Given the description of an element on the screen output the (x, y) to click on. 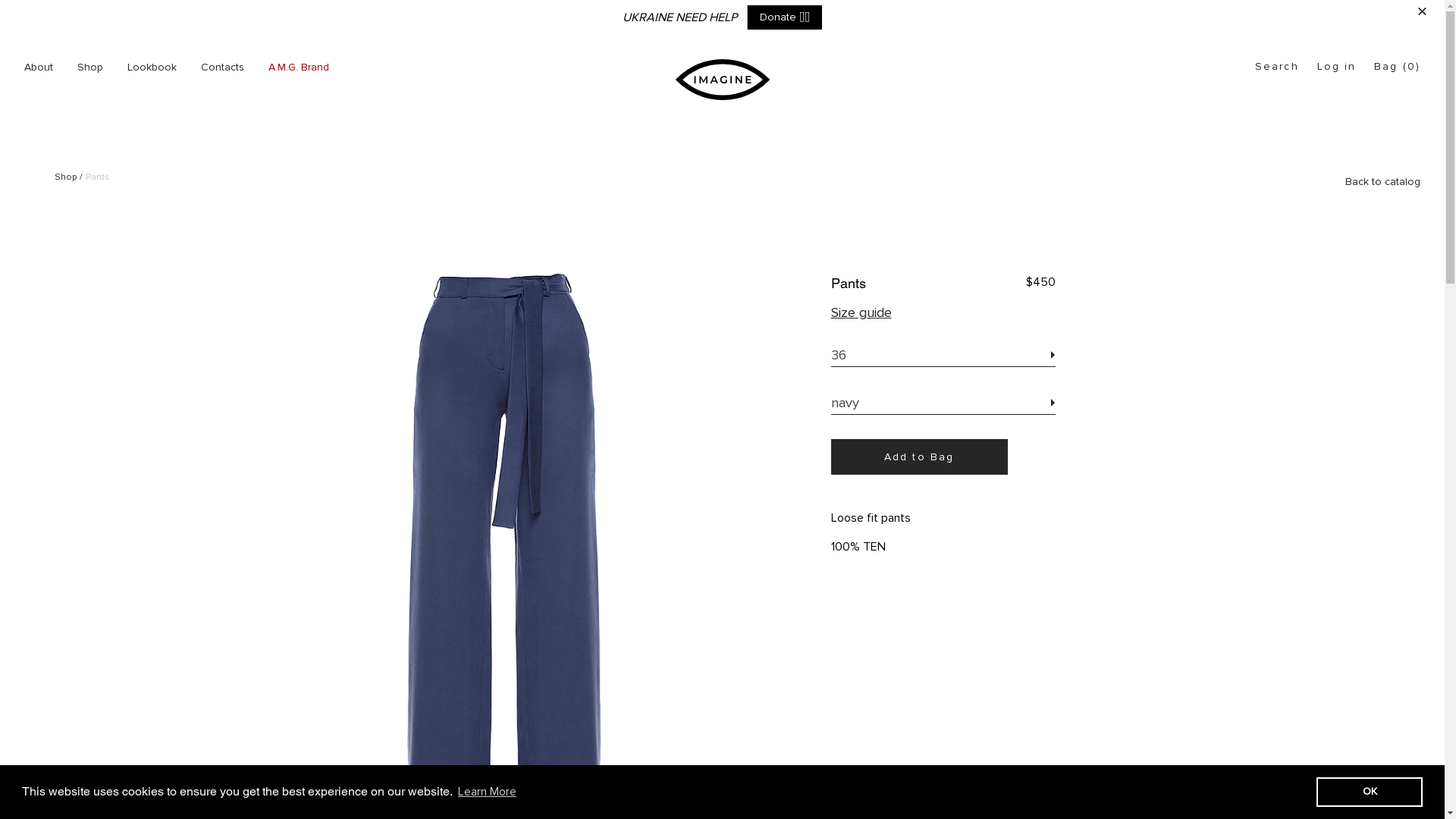
Size guide Element type: text (861, 312)
Bag (0) Element type: text (1397, 65)
Log in Element type: text (1336, 65)
Learn More Element type: text (486, 791)
Contacts Element type: text (222, 66)
Add to Bag Element type: text (919, 456)
Lookbook Element type: text (151, 66)
Shop Element type: text (65, 176)
Shop Element type: text (90, 66)
About Element type: text (38, 66)
A.M.G. Brand Element type: text (298, 66)
Back to catalog Element type: text (1382, 181)
Search Element type: text (1277, 65)
